Given the description of an element on the screen output the (x, y) to click on. 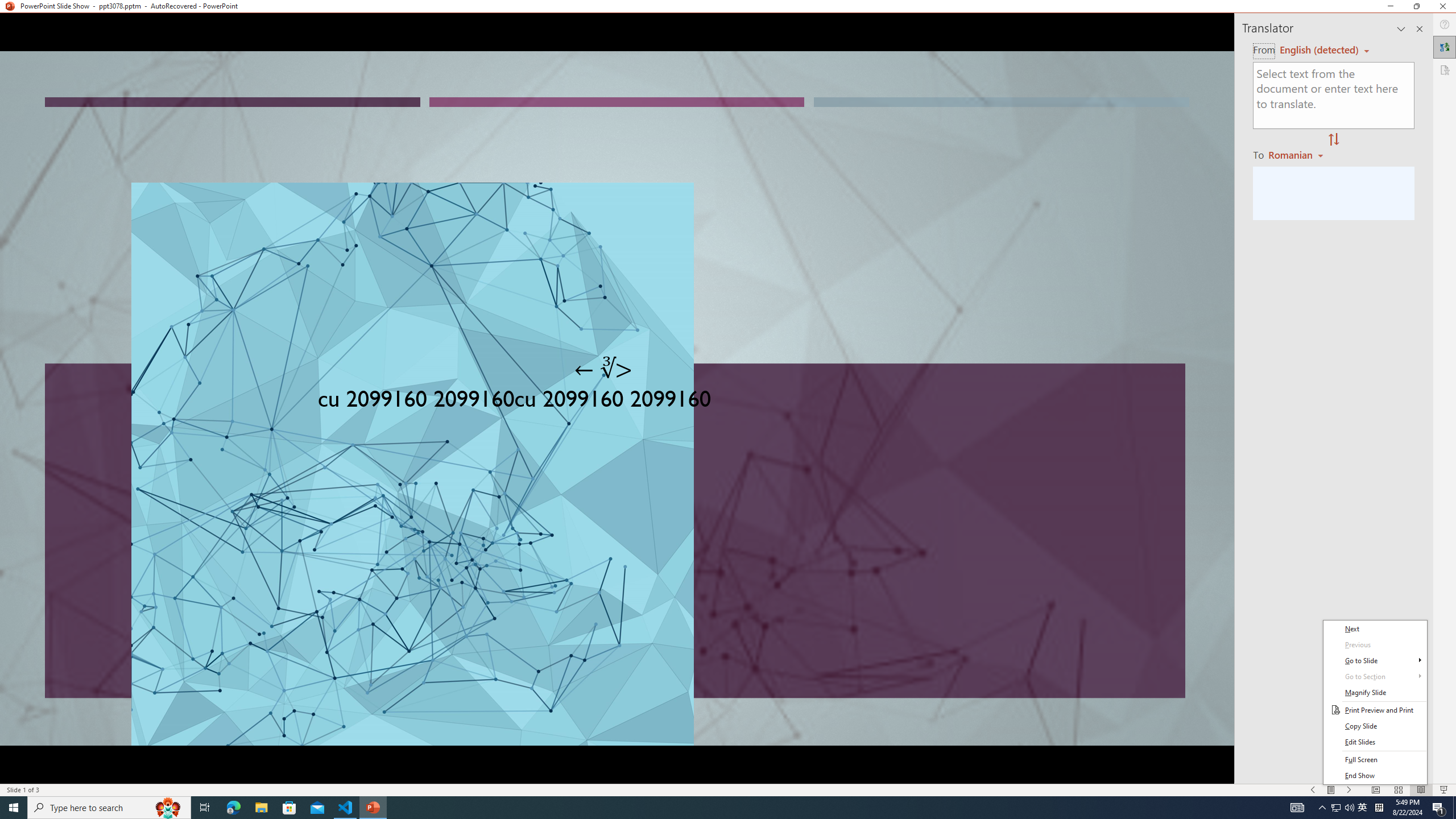
Czech (detected) (1319, 50)
Edit Slides (1374, 742)
Next (1374, 628)
Swap "from" and "to" languages. (1333, 140)
Class: NetUITWMenuContainer (1374, 701)
Magnify Slide (1374, 692)
